Given the description of an element on the screen output the (x, y) to click on. 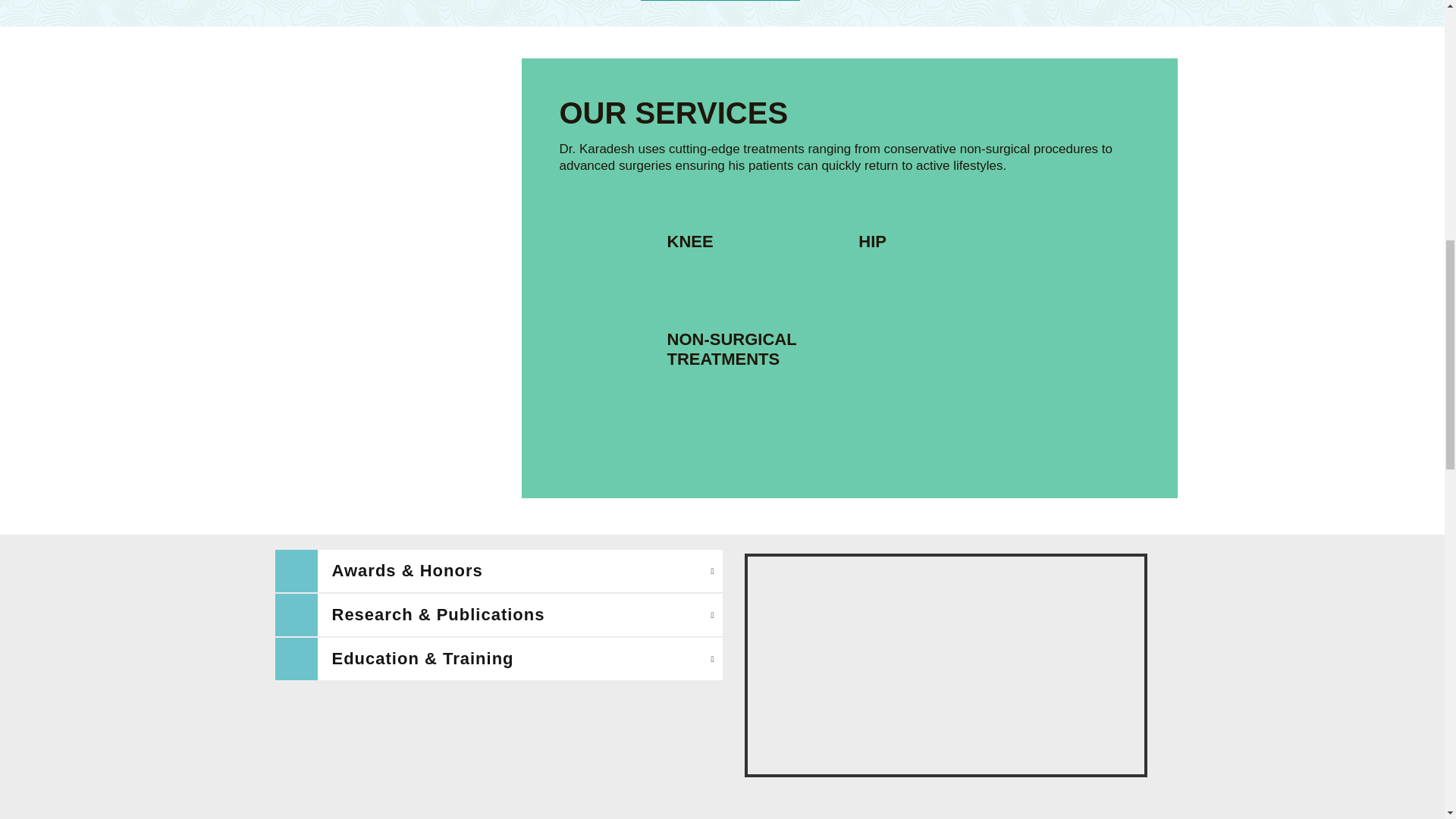
Video of Dr. Karadsheh (945, 665)
